Given the description of an element on the screen output the (x, y) to click on. 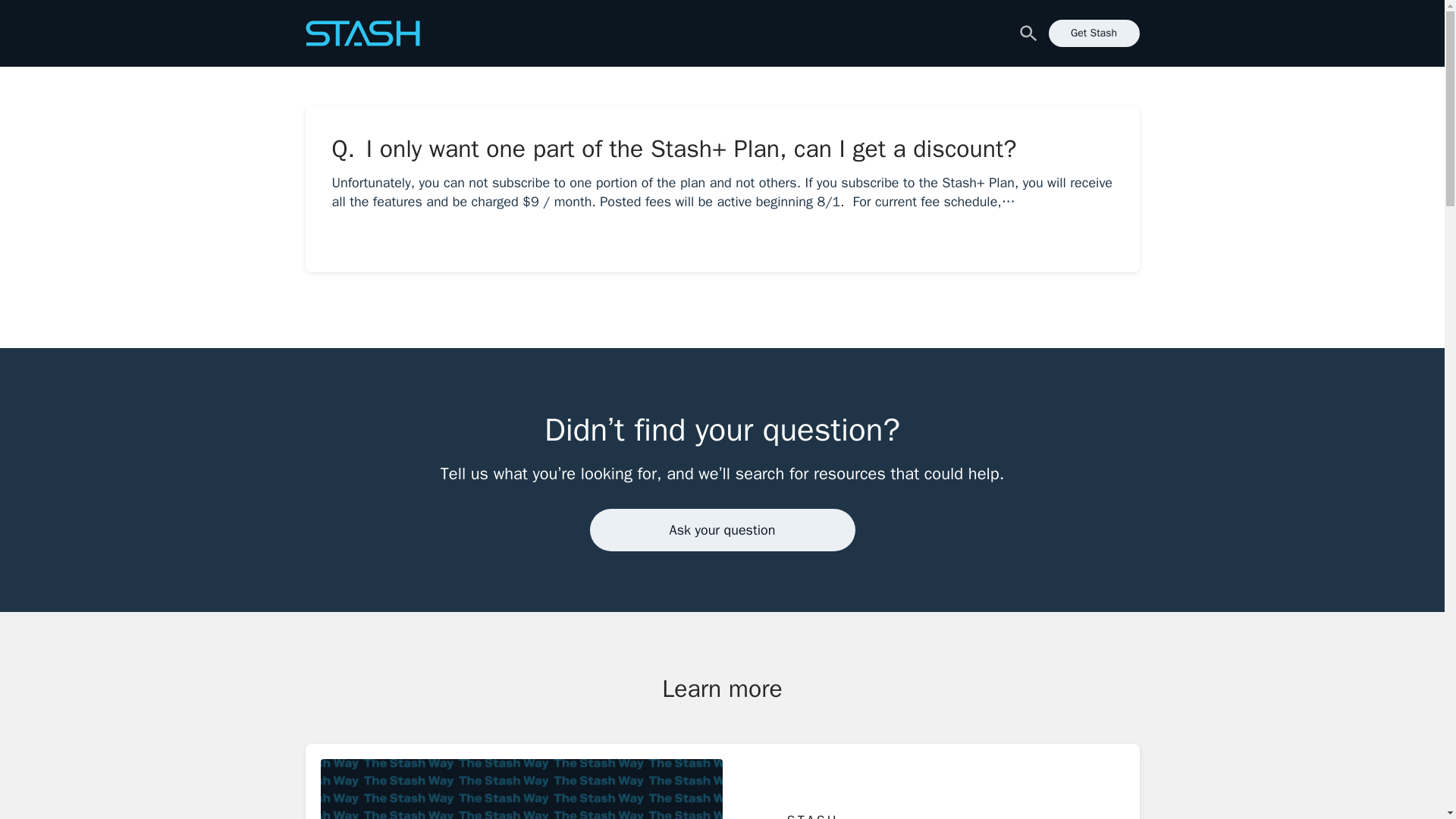
Get Stash (1093, 32)
Ask Stash (331, 22)
Stash Learn (361, 32)
Ask your question (722, 529)
